Given the description of an element on the screen output the (x, y) to click on. 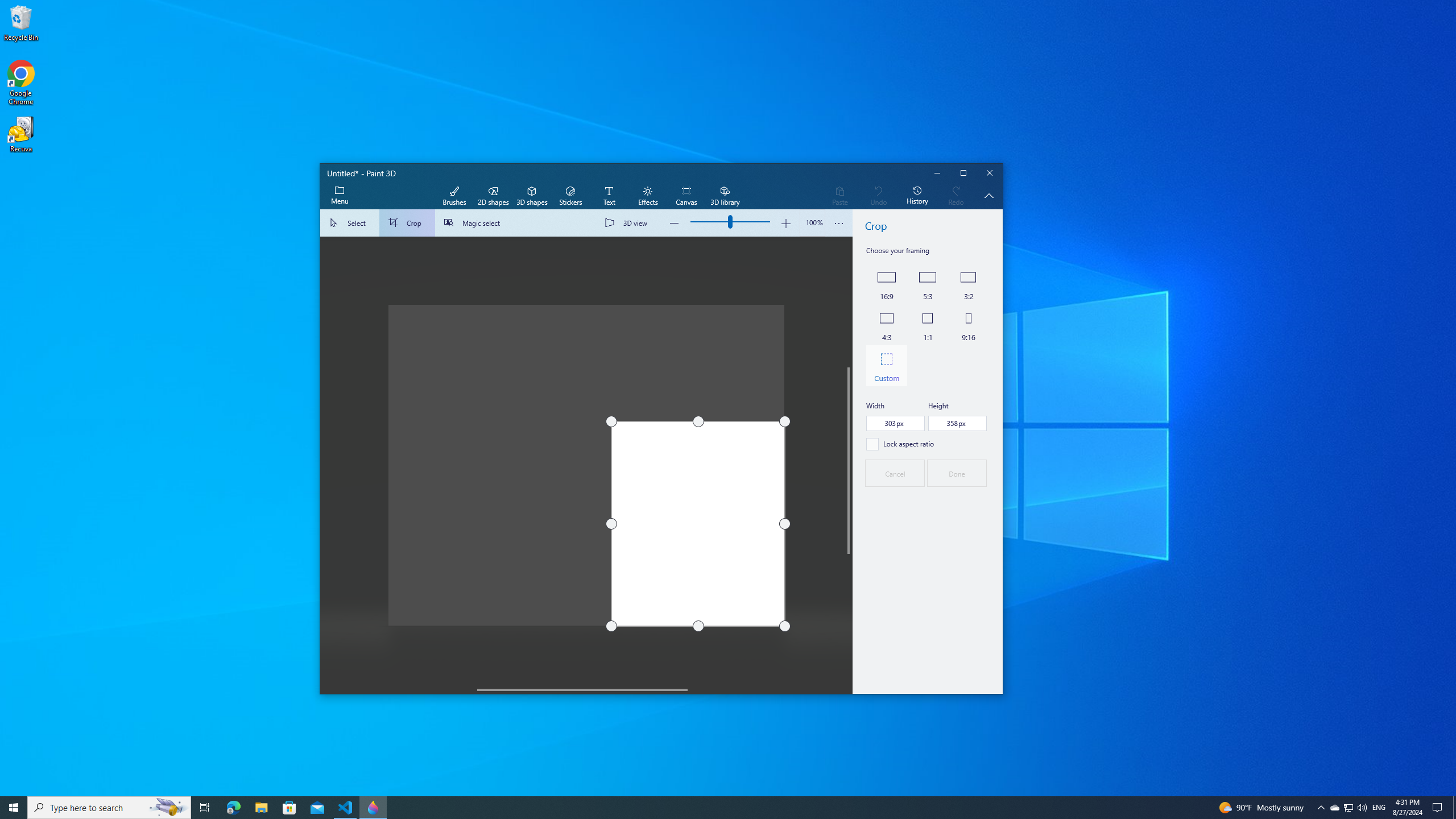
16 by 9 (886, 283)
Running applications (706, 807)
4 by 3 (886, 324)
View more options (839, 222)
3D library (725, 195)
Vertical Large Decrease (848, 301)
Height,, pixels (957, 423)
Stickers (570, 195)
Horizontal Large Increase (765, 689)
Width,, pixels (895, 423)
Horizontal Large Decrease (398, 689)
Cancel (894, 472)
